Given the description of an element on the screen output the (x, y) to click on. 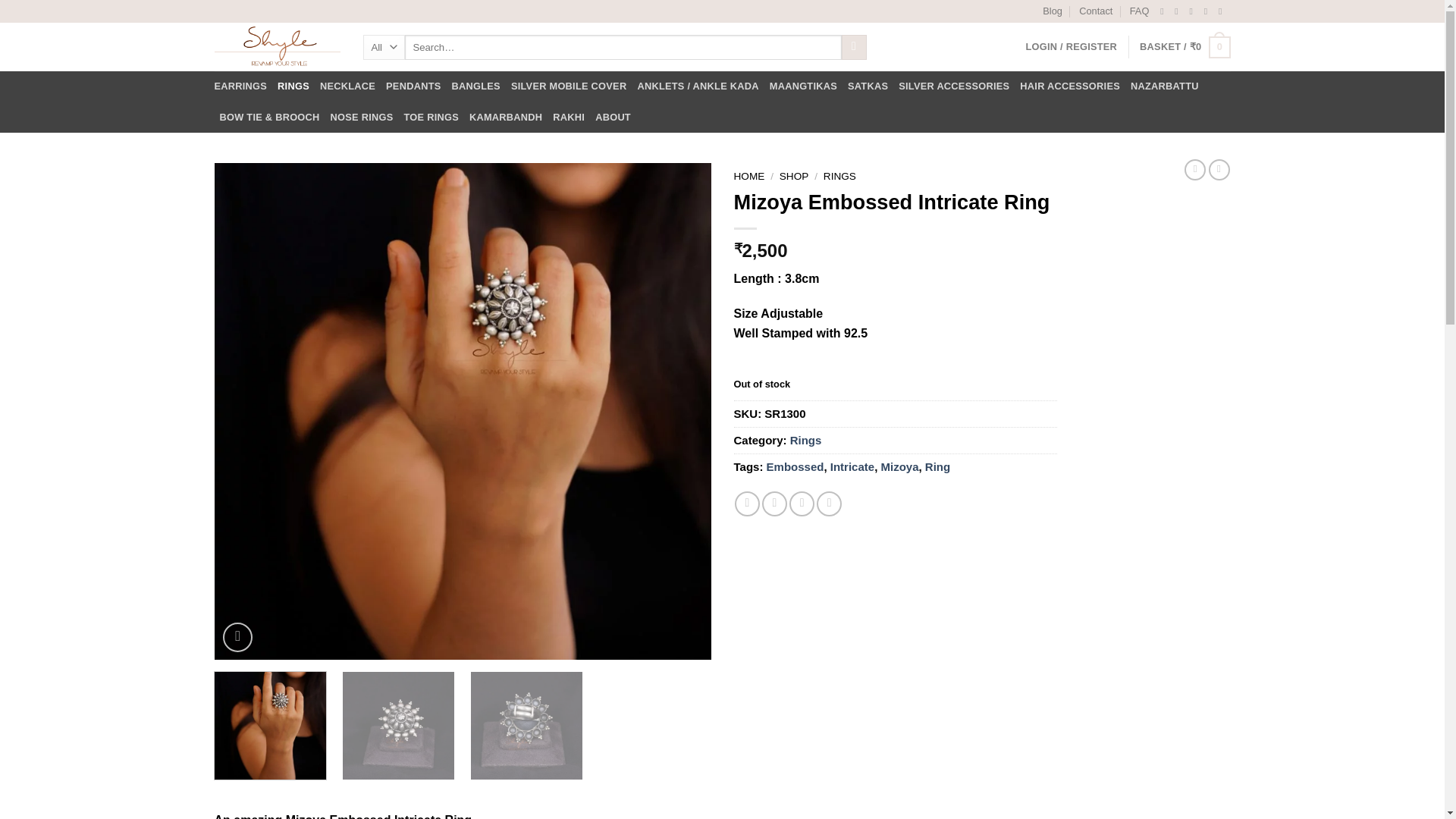
ABOUT (612, 117)
NECKLACE (347, 86)
Search (853, 47)
EARRINGS (240, 86)
SATKAS (867, 86)
MAANGTIKAS (803, 86)
Basket (1185, 47)
SILVER ACCESSORIES (953, 86)
RINGS (293, 86)
